Given the description of an element on the screen output the (x, y) to click on. 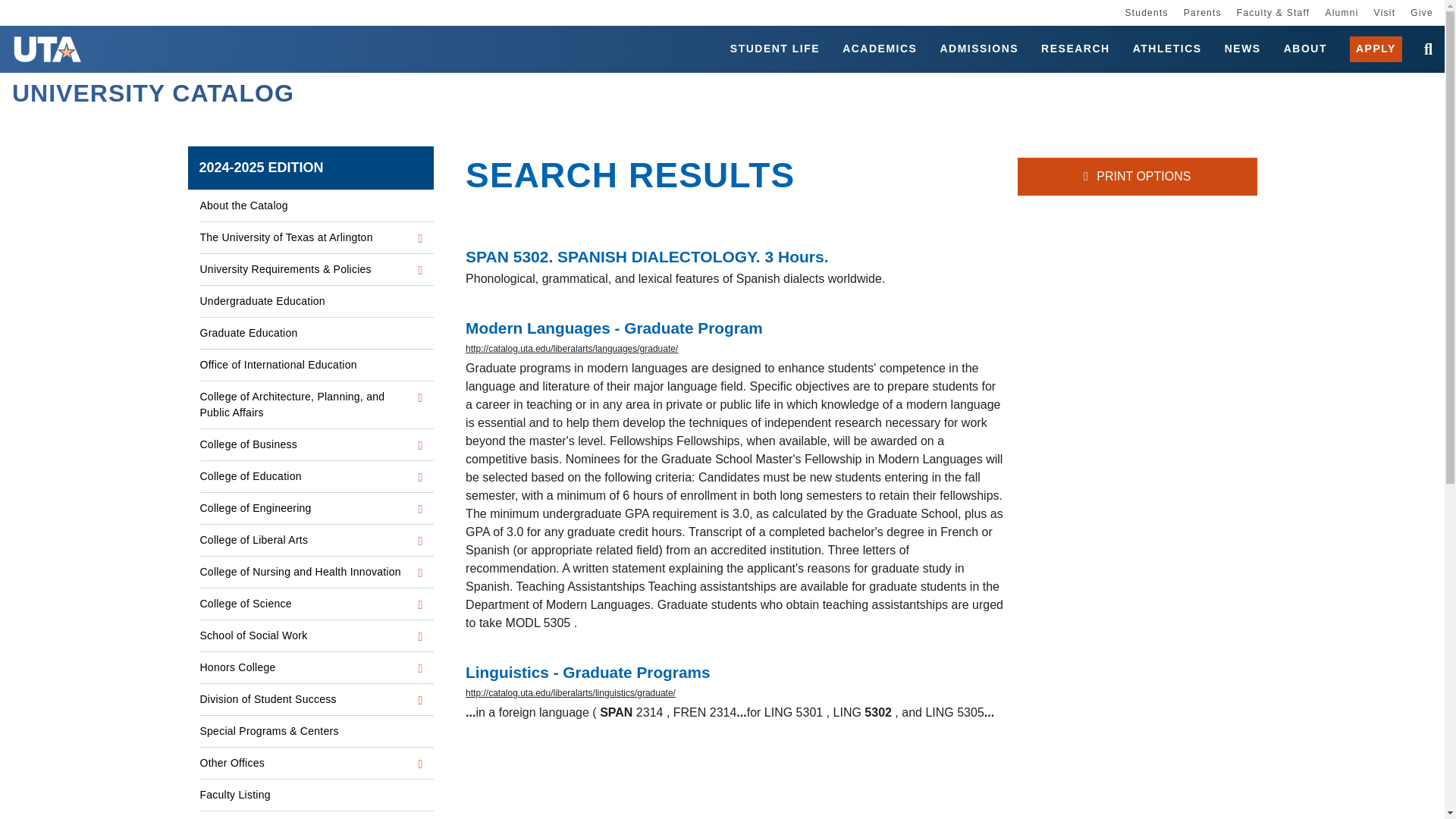
Give (1421, 12)
RESEARCH (1075, 49)
STUDENT LIFE (774, 49)
APPLY (1375, 49)
NEWS (1242, 49)
open search bar (1422, 48)
ACADEMICS (880, 49)
Parents (1202, 12)
ATHLETICS (1167, 49)
Alumni (1341, 12)
ADMISSIONS (978, 49)
Home (23, 88)
Visit (1385, 12)
ABOUT (1305, 49)
Students (1145, 12)
